Given the description of an element on the screen output the (x, y) to click on. 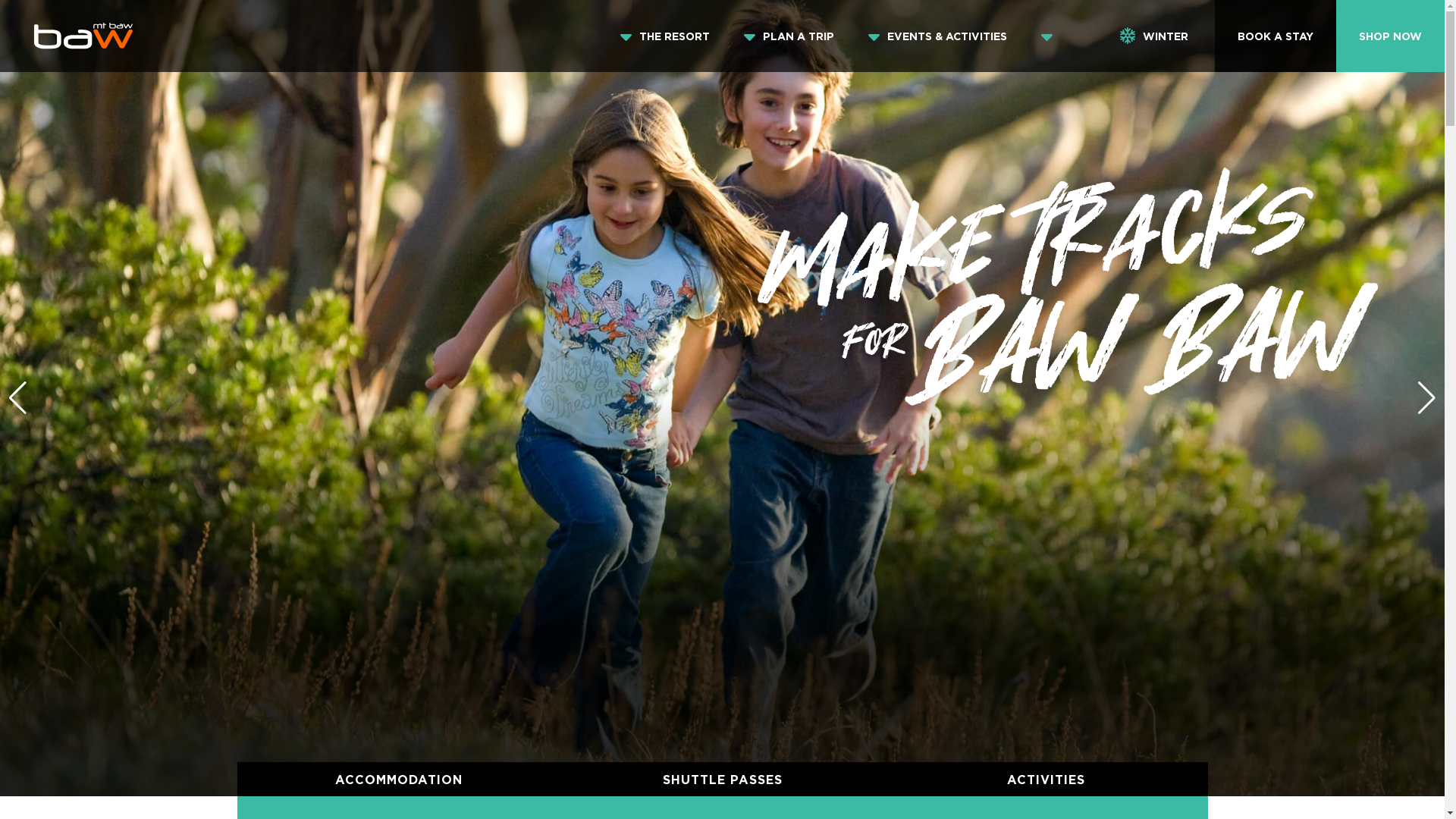
WINTER Element type: text (1153, 36)
SHOP NOW Element type: text (1390, 36)
BOOK A STAY Element type: text (1275, 36)
PLAN A TRIP Element type: text (798, 35)
ACTIVITIES Element type: text (1046, 779)
THE RESORT Element type: text (674, 35)
EVENTS & ACTIVITIES Element type: text (946, 35)
ACCOMMODATION Element type: text (398, 779)
SHUTTLE PASSES Element type: text (722, 779)
